Given the description of an element on the screen output the (x, y) to click on. 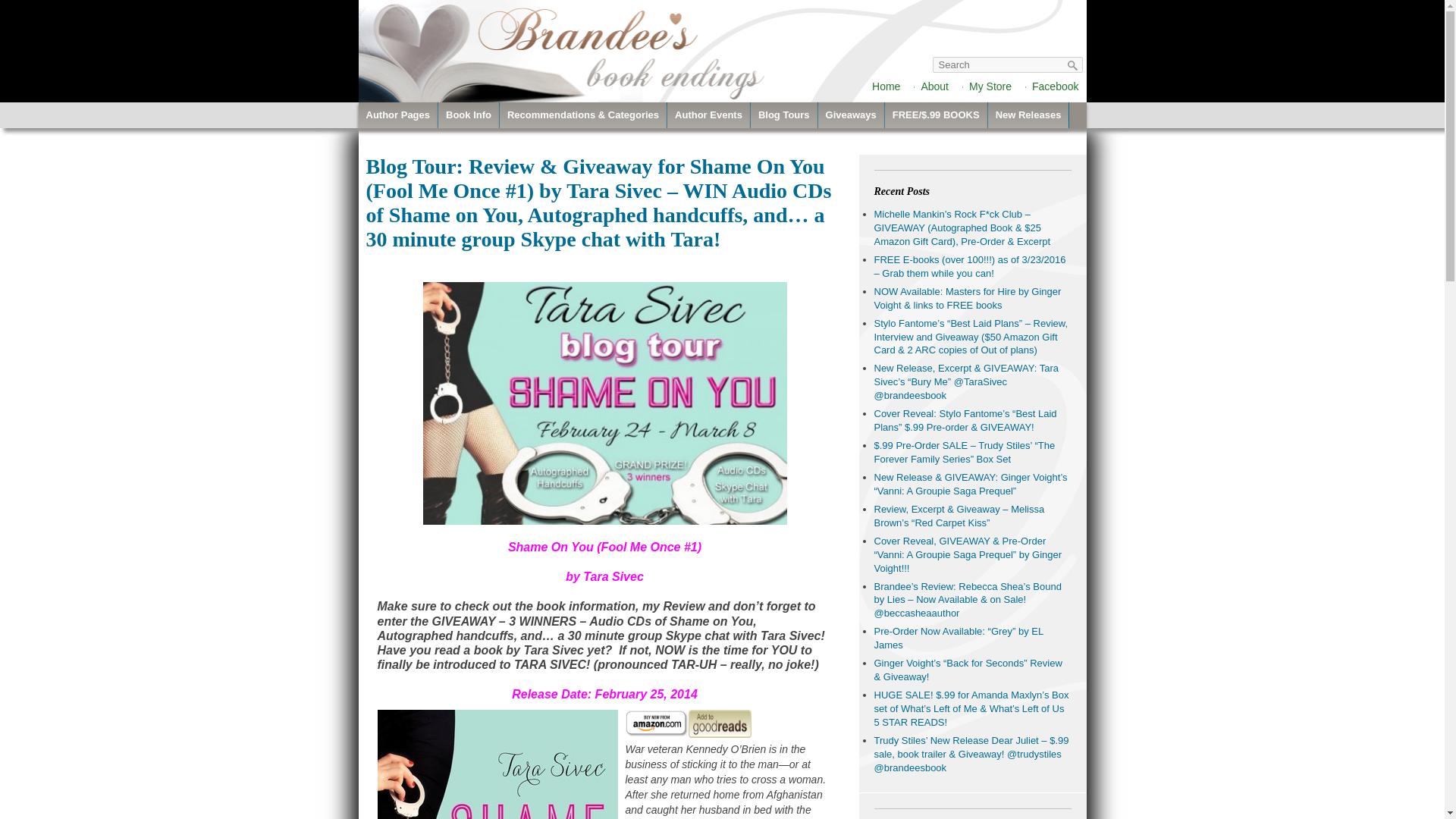
Giveaways (850, 114)
Search (1072, 65)
Blog Tours (783, 114)
Book Info (468, 114)
Facebook (1055, 86)
New Releases (1028, 114)
Author Events (707, 114)
My Store (990, 86)
Home (885, 86)
Author Pages (398, 114)
About (934, 86)
